Given the description of an element on the screen output the (x, y) to click on. 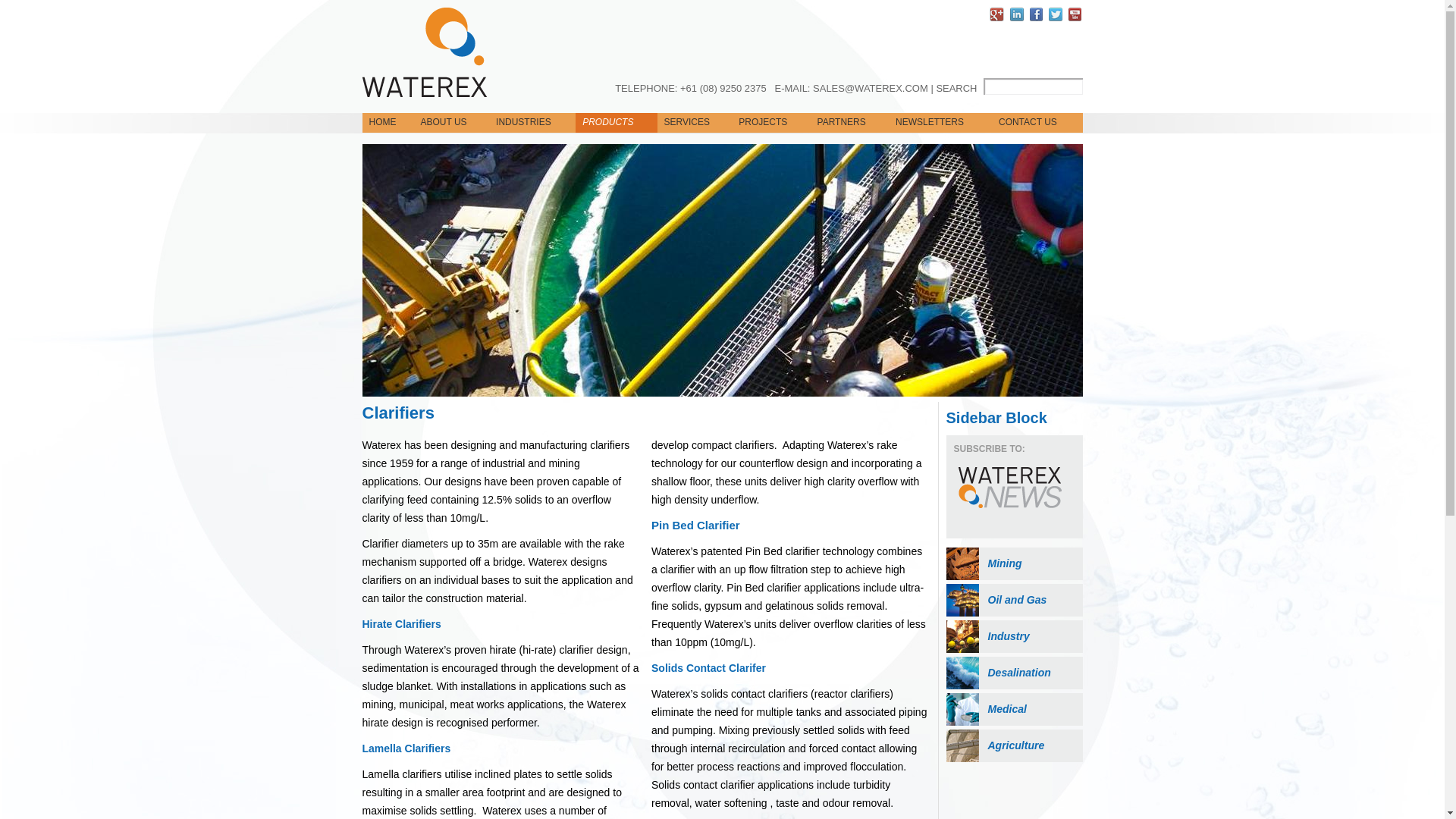
Enter the terms you wish to search for. (1032, 87)
PROJECTS (770, 122)
PRODUCTS (615, 122)
ABOUT US (451, 122)
HOME (387, 122)
INDUSTRIES (532, 122)
Home (424, 52)
